Given the description of an element on the screen output the (x, y) to click on. 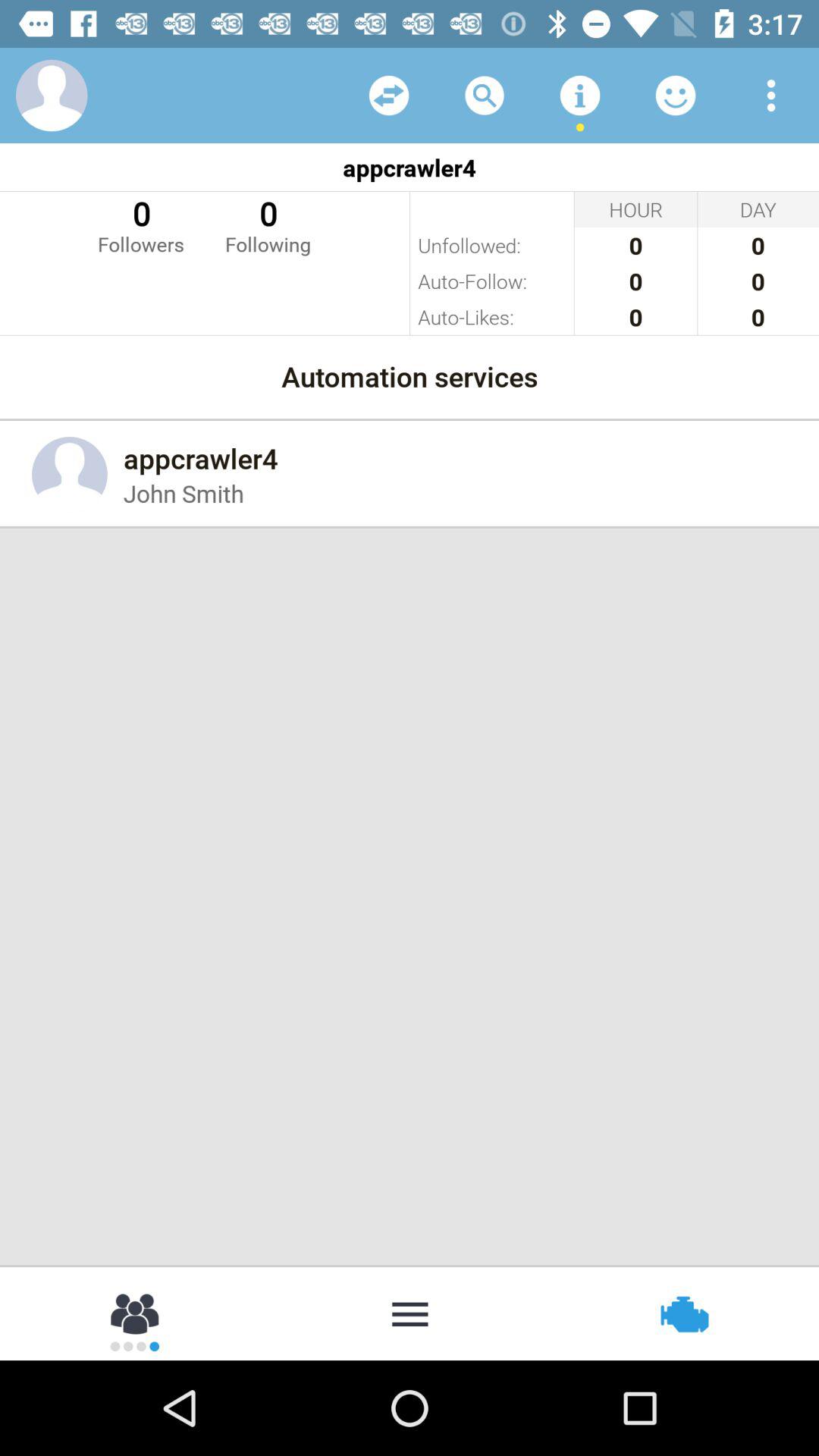
open icon at the bottom right corner (683, 1312)
